Given the description of an element on the screen output the (x, y) to click on. 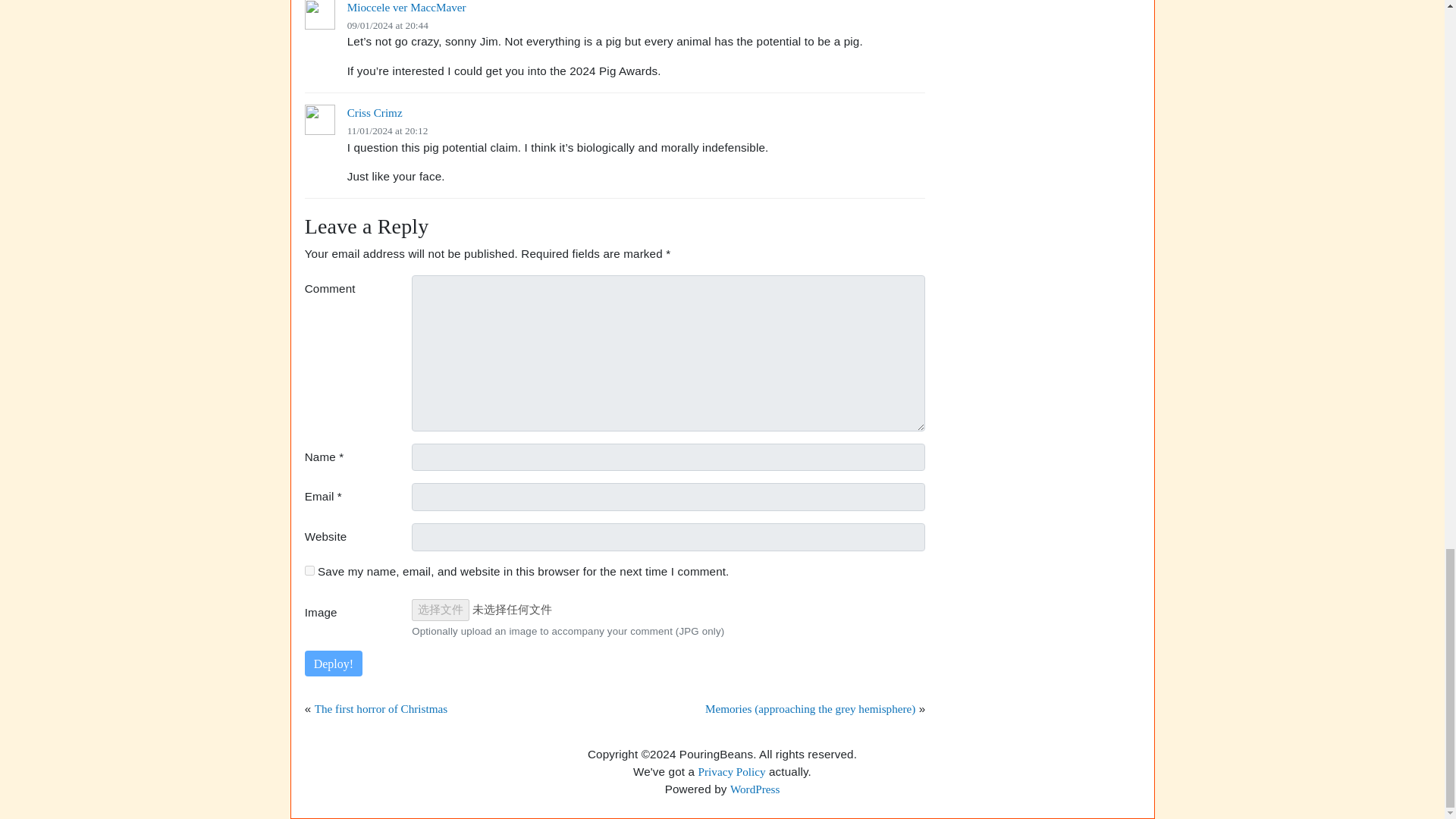
Mioccele ver MaccMaver (406, 6)
yes (309, 570)
Criss Crimz (375, 112)
Deploy! (333, 662)
Deploy! (333, 662)
The first horror of Christmas (380, 707)
